Given the description of an element on the screen output the (x, y) to click on. 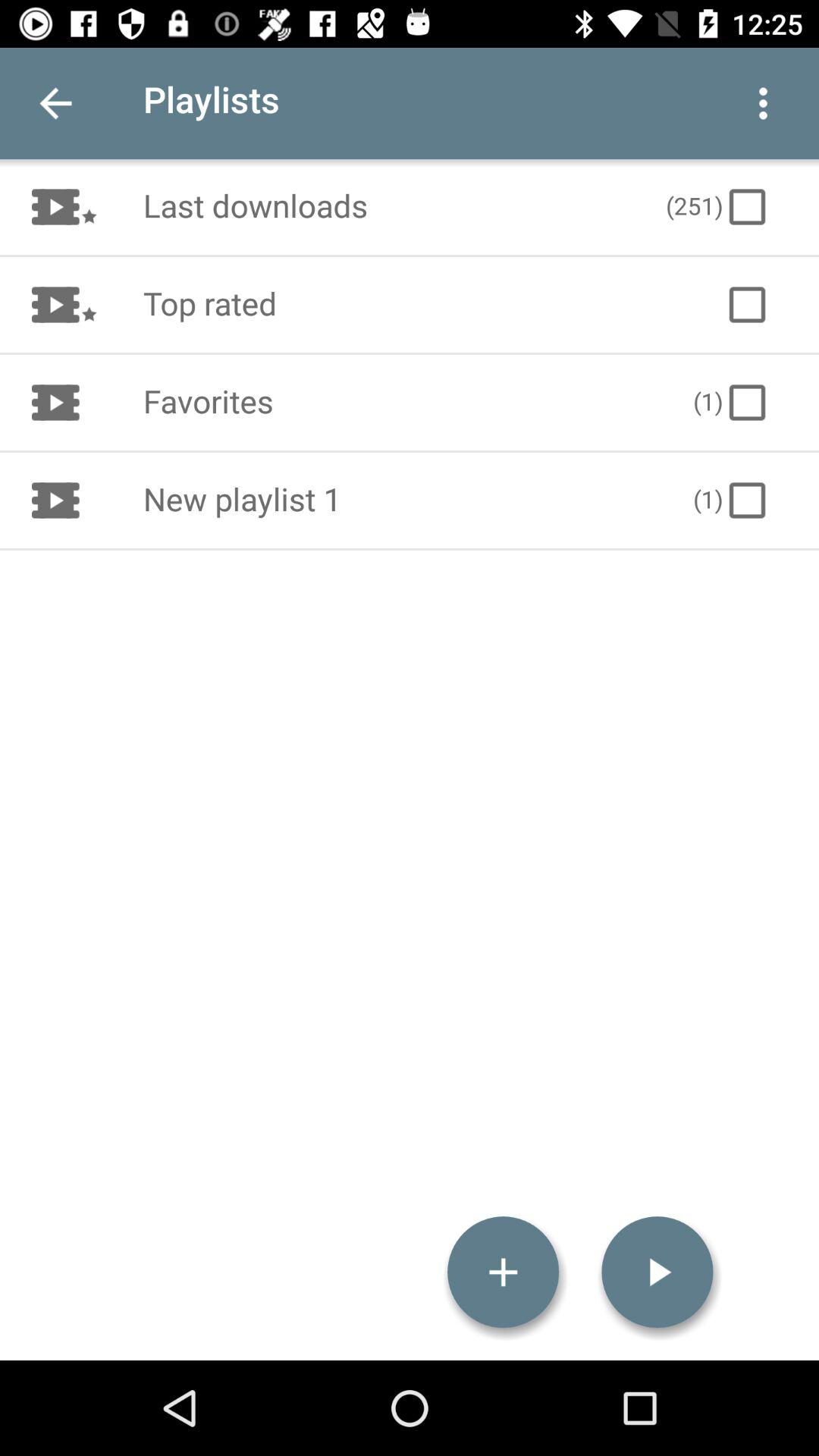
turn off item next to last downloads item (718, 206)
